Given the description of an element on the screen output the (x, y) to click on. 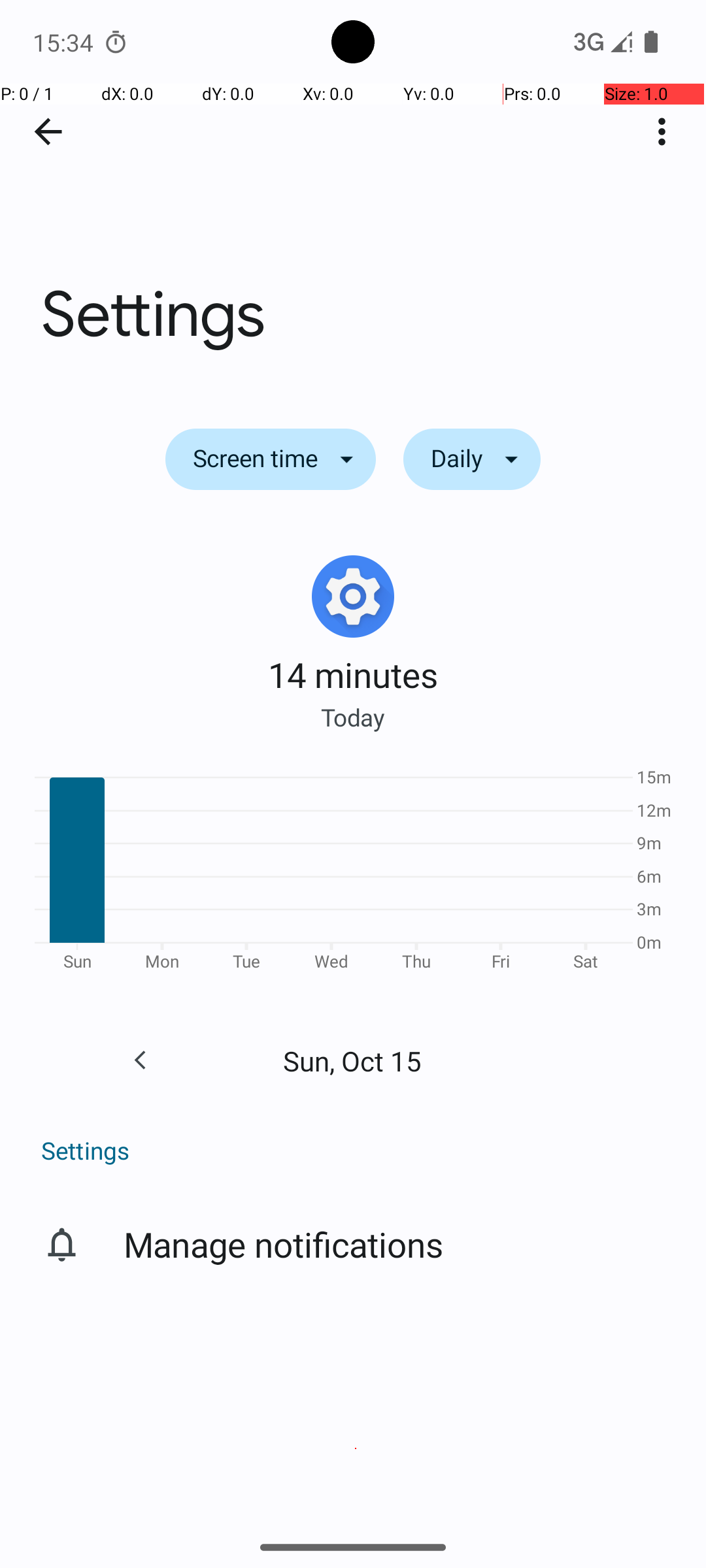
14 minutes Element type: android.widget.TextView (353, 674)
Bar Chart. Showing App usage data with 7 data points. Element type: android.view.ViewGroup (353, 873)
